Given the description of an element on the screen output the (x, y) to click on. 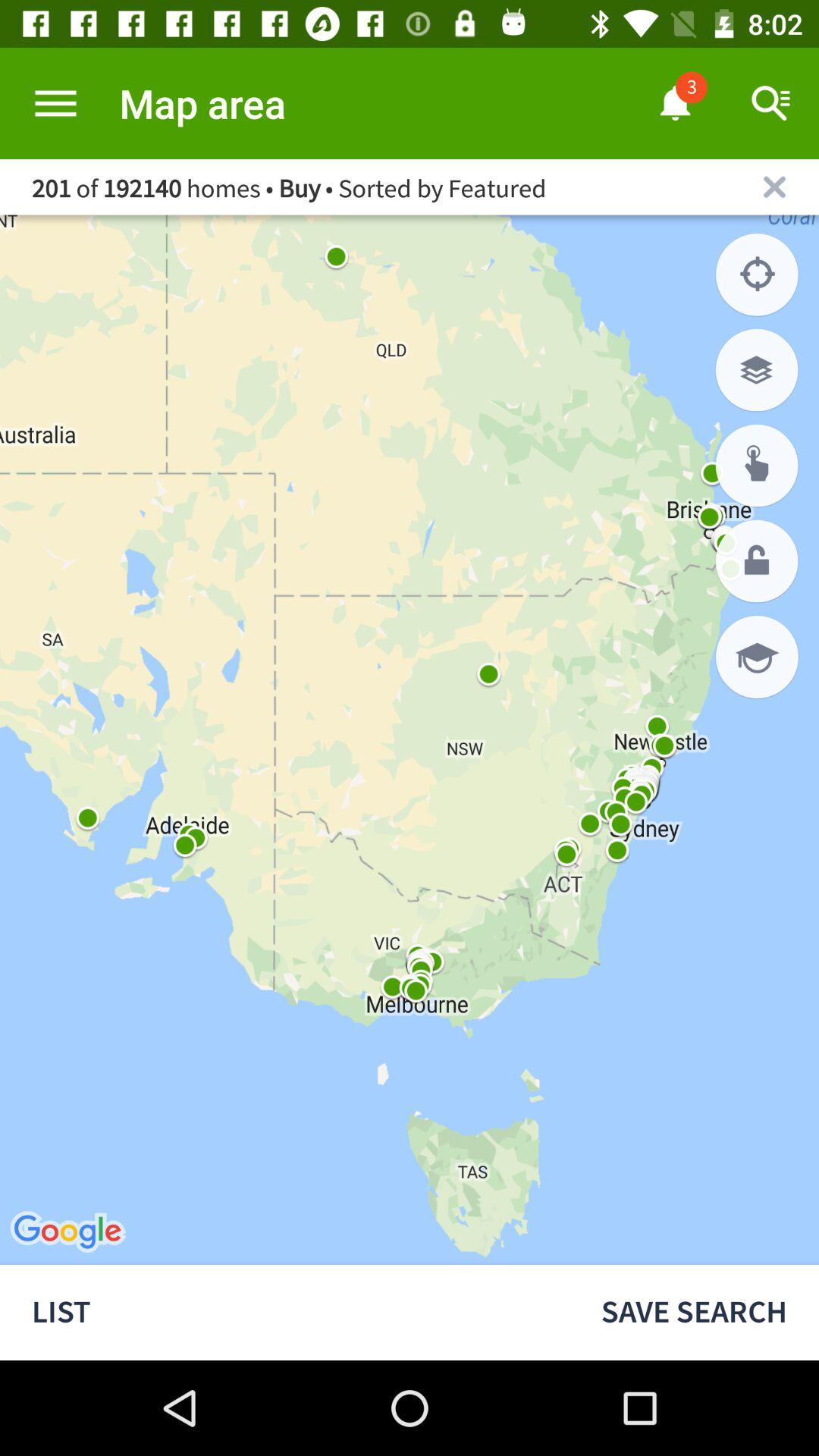
go to side menu option (55, 103)
